Given the description of an element on the screen output the (x, y) to click on. 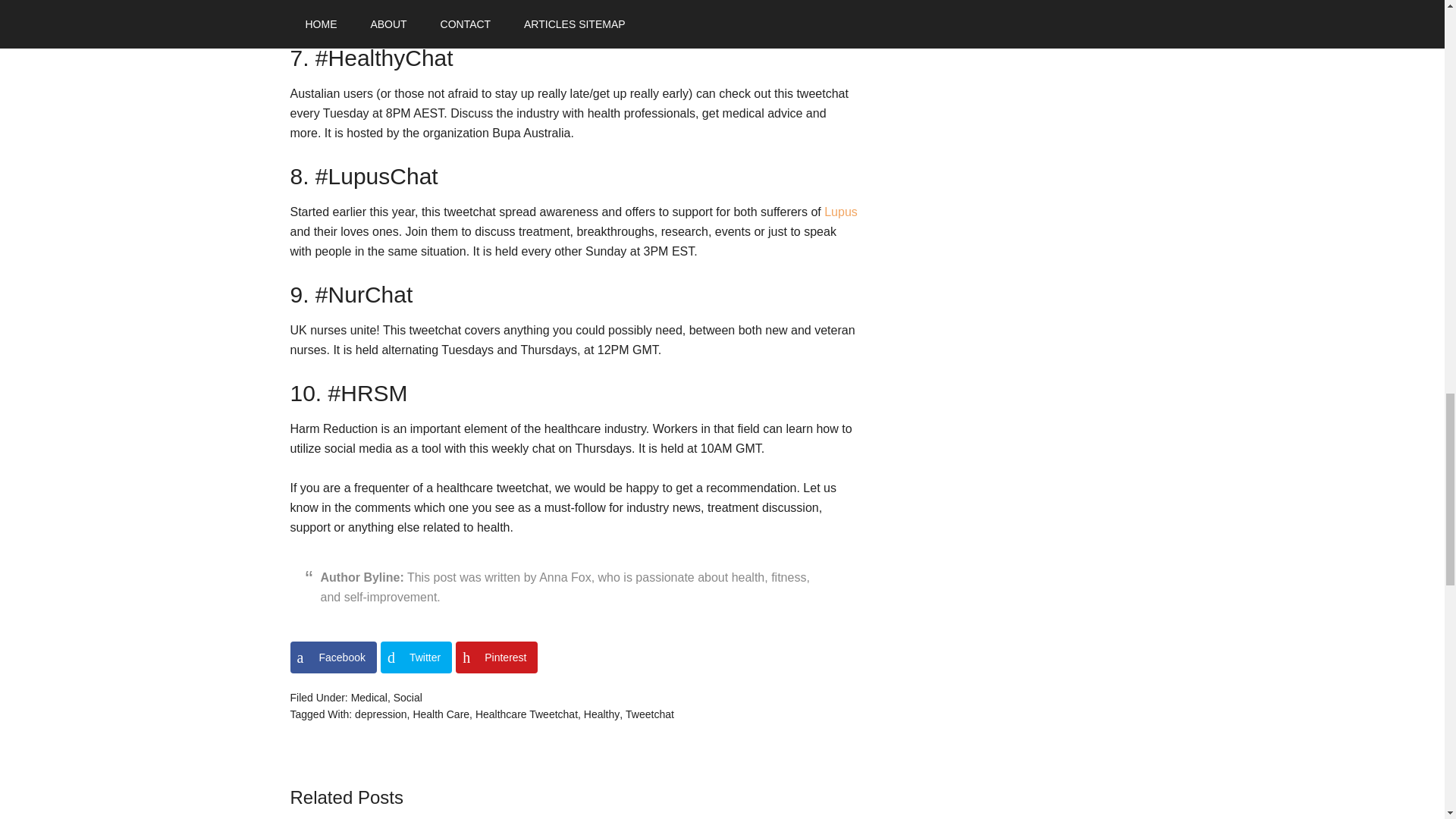
Tweetchat (650, 714)
Pinterest (496, 657)
depression (381, 714)
Twitter (415, 657)
Medical (368, 697)
Healthy (601, 714)
Share on Facebook (332, 657)
Share on Pinterest (496, 657)
Facebook (332, 657)
Share on Twitter (415, 657)
Healthcare Tweetchat (527, 714)
Social (407, 697)
Lupus (840, 211)
Health Care (440, 714)
